Given the description of an element on the screen output the (x, y) to click on. 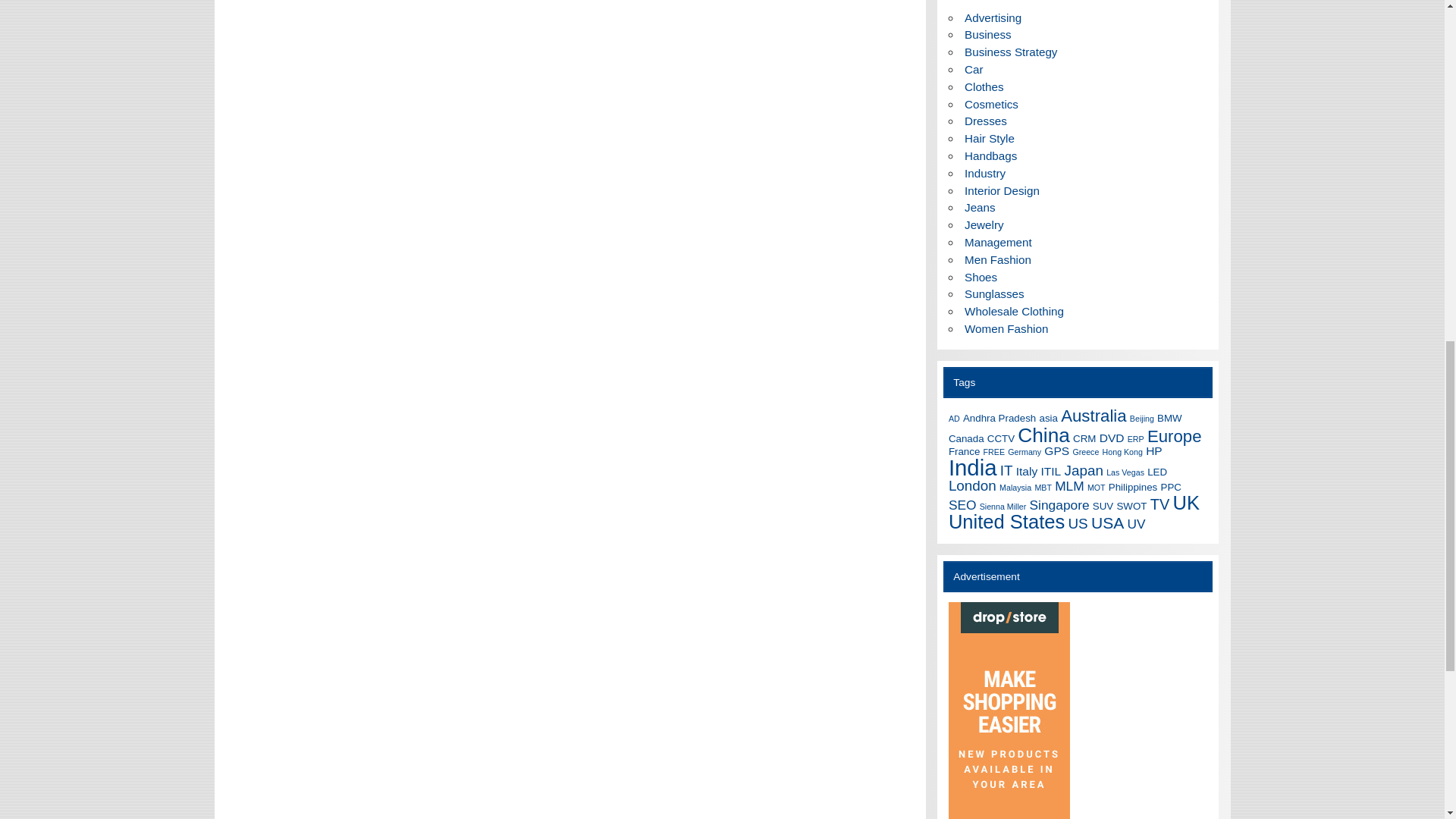
Hair Style (988, 137)
Business Strategy (1010, 51)
Car (972, 69)
Management (997, 241)
Business (987, 33)
Dresses (985, 120)
Jeans (979, 206)
Interior Design (1001, 190)
Jewelry (983, 224)
Industry (984, 173)
